Given the description of an element on the screen output the (x, y) to click on. 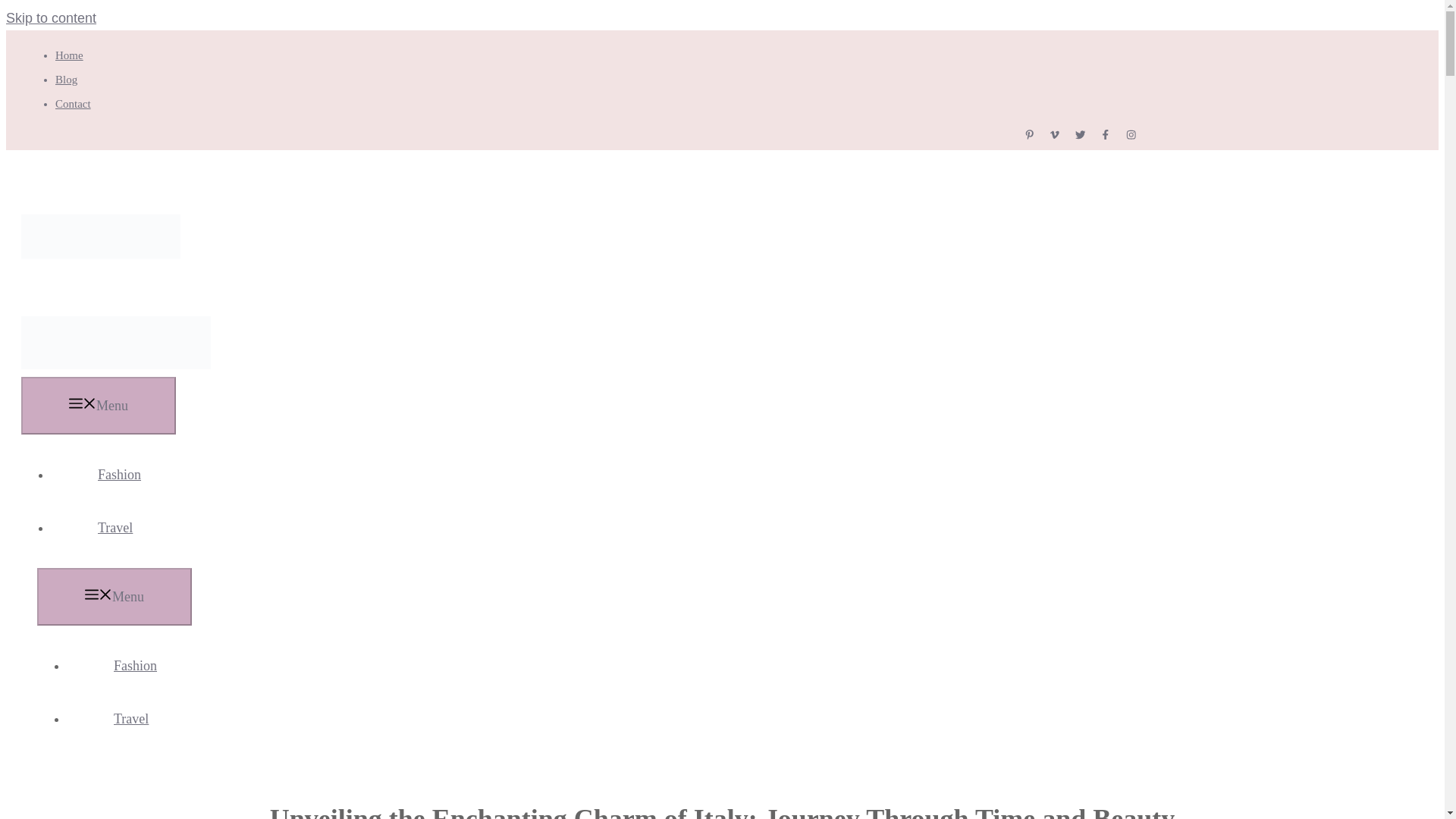
Menu (114, 596)
Menu (98, 405)
Skip to content (50, 17)
Travel (114, 527)
Home (68, 55)
Blog (66, 79)
Travel (130, 718)
Fashion (134, 665)
Contact (72, 103)
Ensembles India (116, 364)
